Given the description of an element on the screen output the (x, y) to click on. 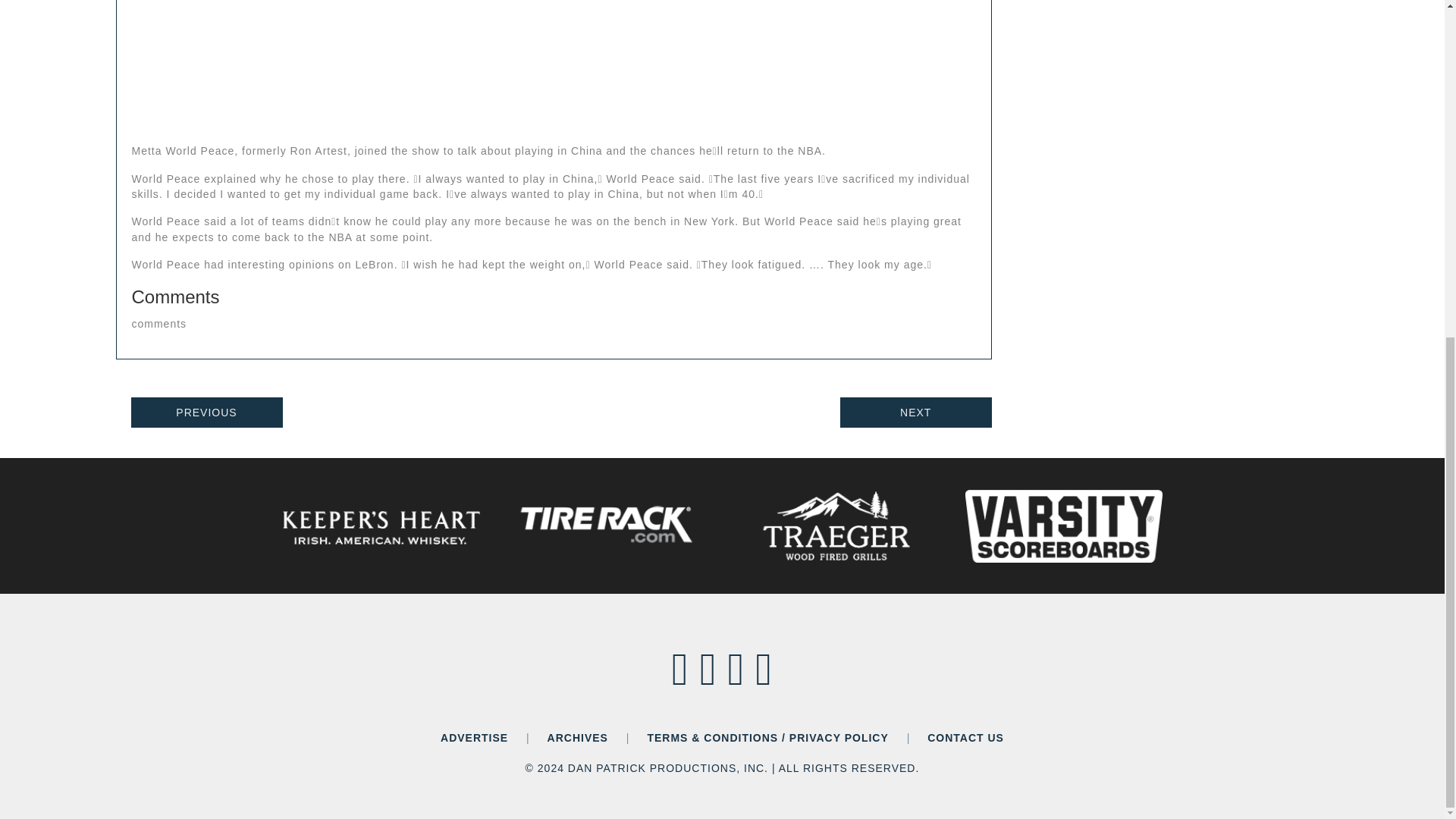
TireRackCom.whitegrey-250 (607, 525)
Keepers-heart-Logo-400a (380, 527)
NEXT (915, 412)
ADVERTISE (474, 737)
ARCHIVES (577, 737)
PREVIOUS (206, 412)
